Given the description of an element on the screen output the (x, y) to click on. 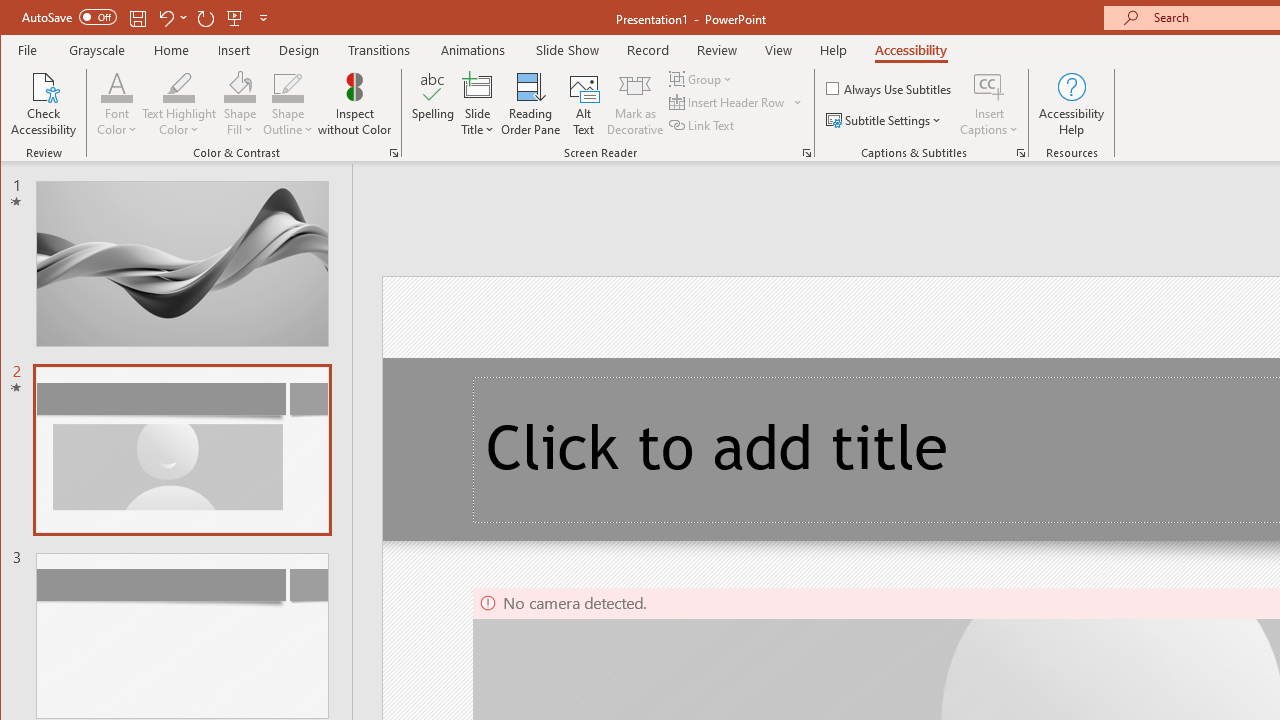
Insert Header Row (728, 101)
Font Color (116, 86)
Font Color (116, 104)
Subtitle Settings (885, 119)
Group (701, 78)
Link Text (703, 124)
Insert Captions (989, 86)
Insert Captions (989, 104)
Shape Outline Blue, Accent 1 (288, 86)
Grayscale (97, 50)
